Given the description of an element on the screen output the (x, y) to click on. 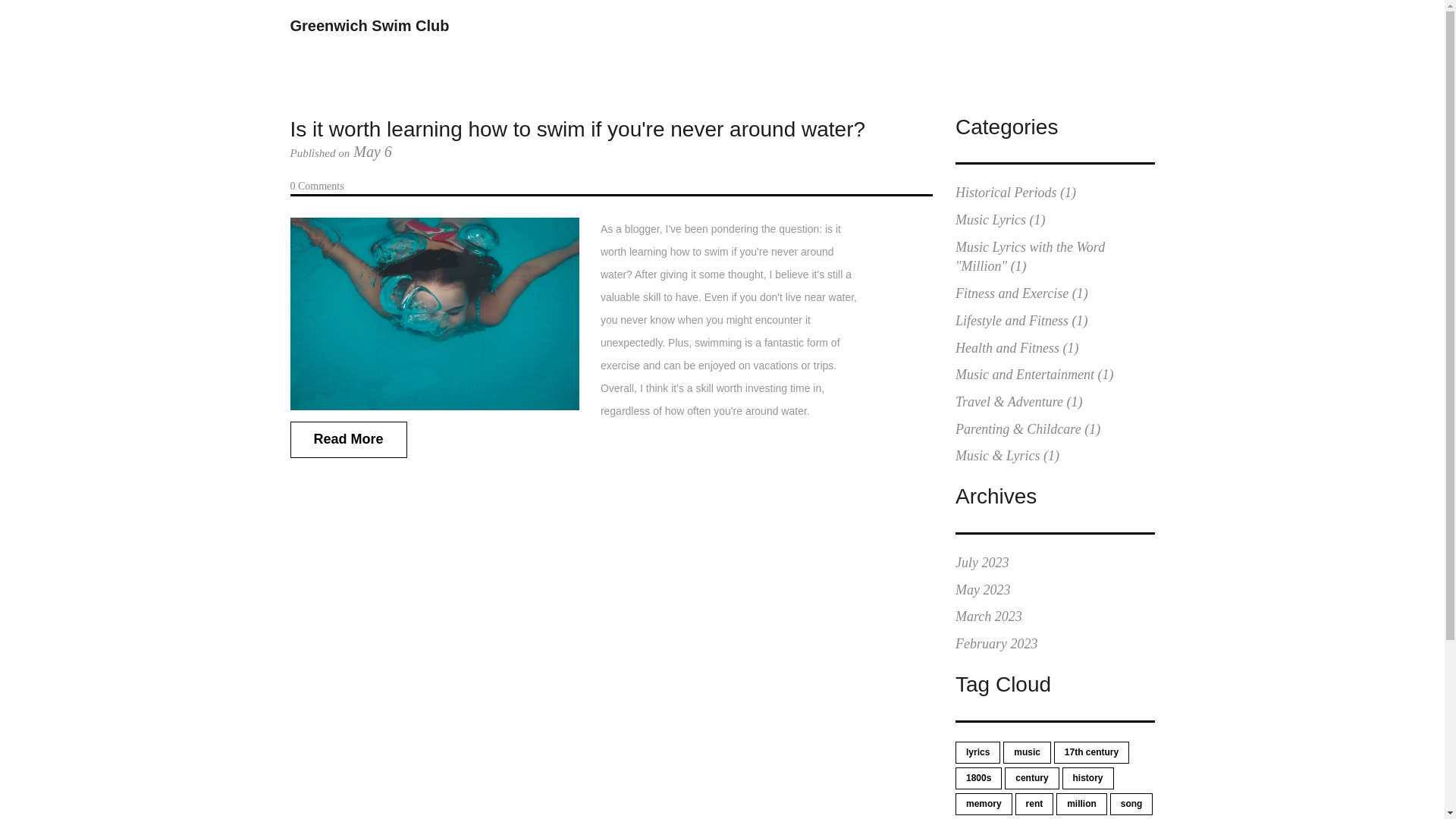
Greenwich Swim Club (368, 25)
July 2023 (982, 562)
memory (983, 803)
May 2023 (982, 589)
March 2023 (988, 616)
February 2023 (995, 643)
1800s (978, 778)
Read More (347, 439)
history (1087, 778)
17th century (1091, 752)
rent (1034, 803)
music (1027, 752)
song (1131, 803)
lyrics (977, 752)
